Given the description of an element on the screen output the (x, y) to click on. 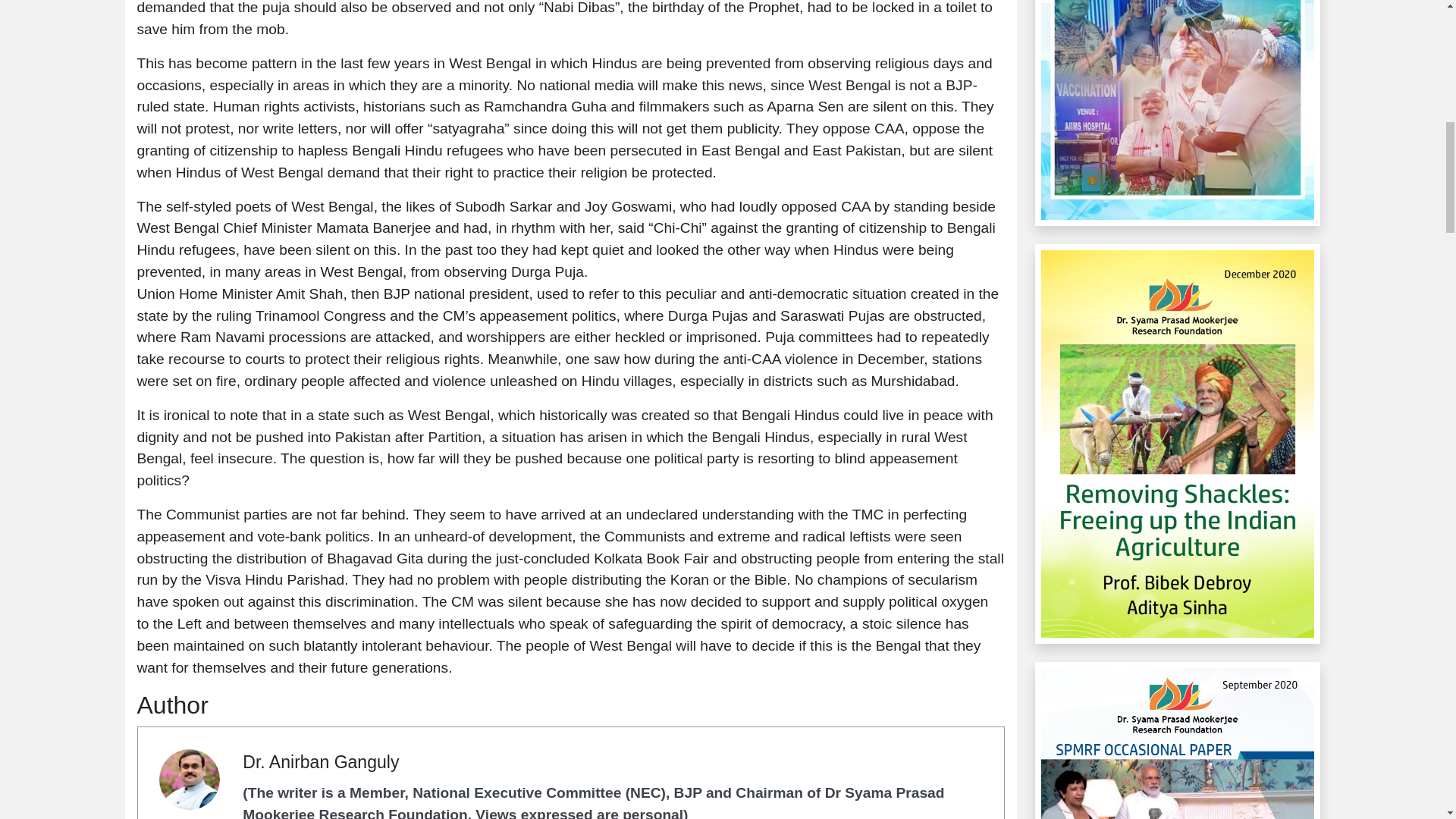
Dr. Anirban Ganguly (320, 762)
